Given the description of an element on the screen output the (x, y) to click on. 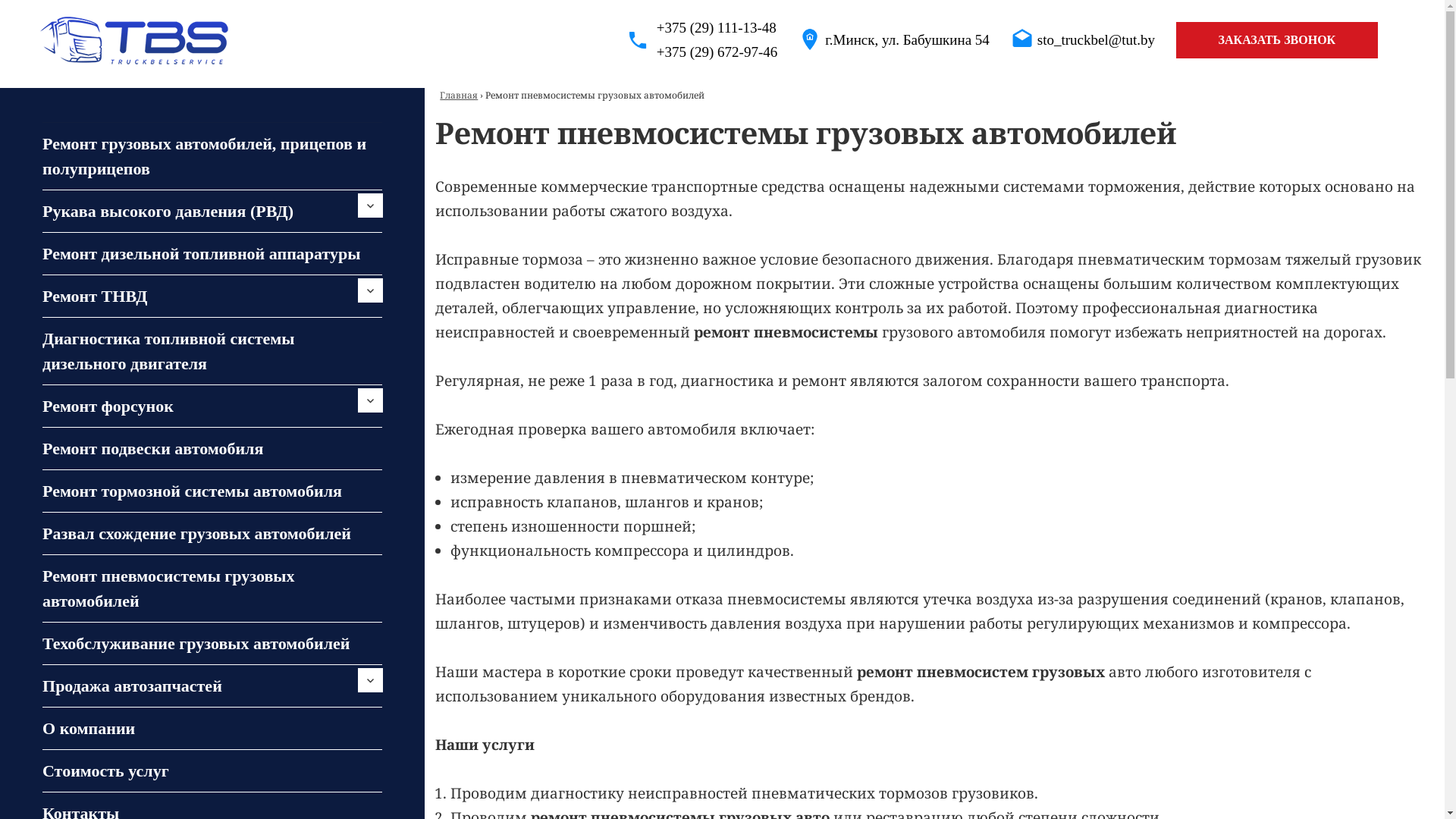
expand child menu Element type: text (369, 290)
expand child menu Element type: text (369, 680)
+375 (29) 111-13-48 Element type: text (702, 27)
+375 (29) 672-97-46 Element type: text (702, 52)
expand child menu Element type: text (369, 205)
expand child menu Element type: text (369, 400)
sto_truckbel@tut.by Element type: text (1095, 39)
